Given the description of an element on the screen output the (x, y) to click on. 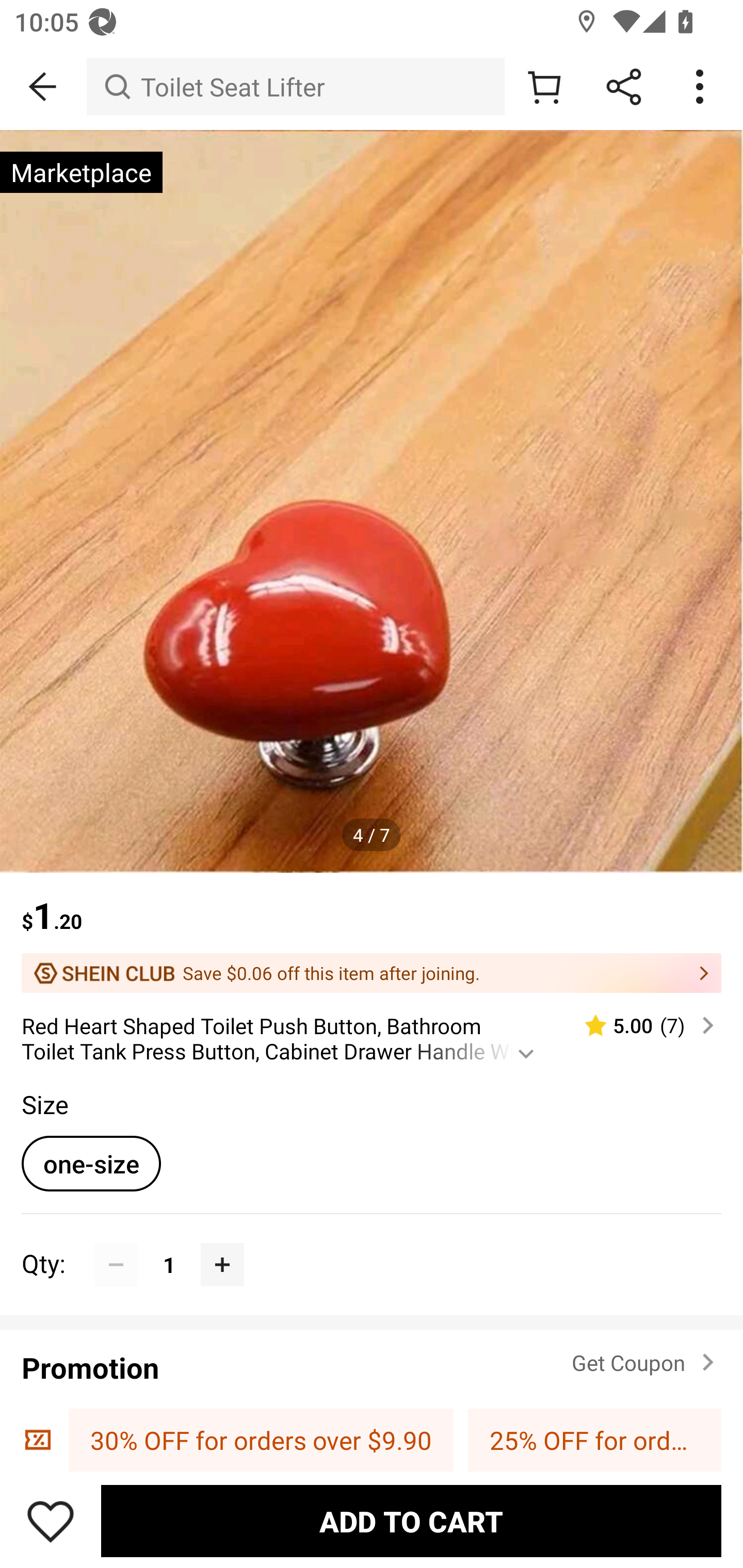
BACK (43, 86)
Toilet Seat Lifter (295, 87)
PHOTOS Marketplace 4 / 7 (371, 501)
4 / 7 (371, 834)
$1.20 Save $0.06 off this item after joining. (371, 932)
Save $0.06 off this item after joining. (371, 972)
5.00 (7) (640, 1025)
Size (44, 1103)
one-size one-sizeselected option (91, 1163)
ADD TO CART (411, 1520)
Save (50, 1520)
